Given the description of an element on the screen output the (x, y) to click on. 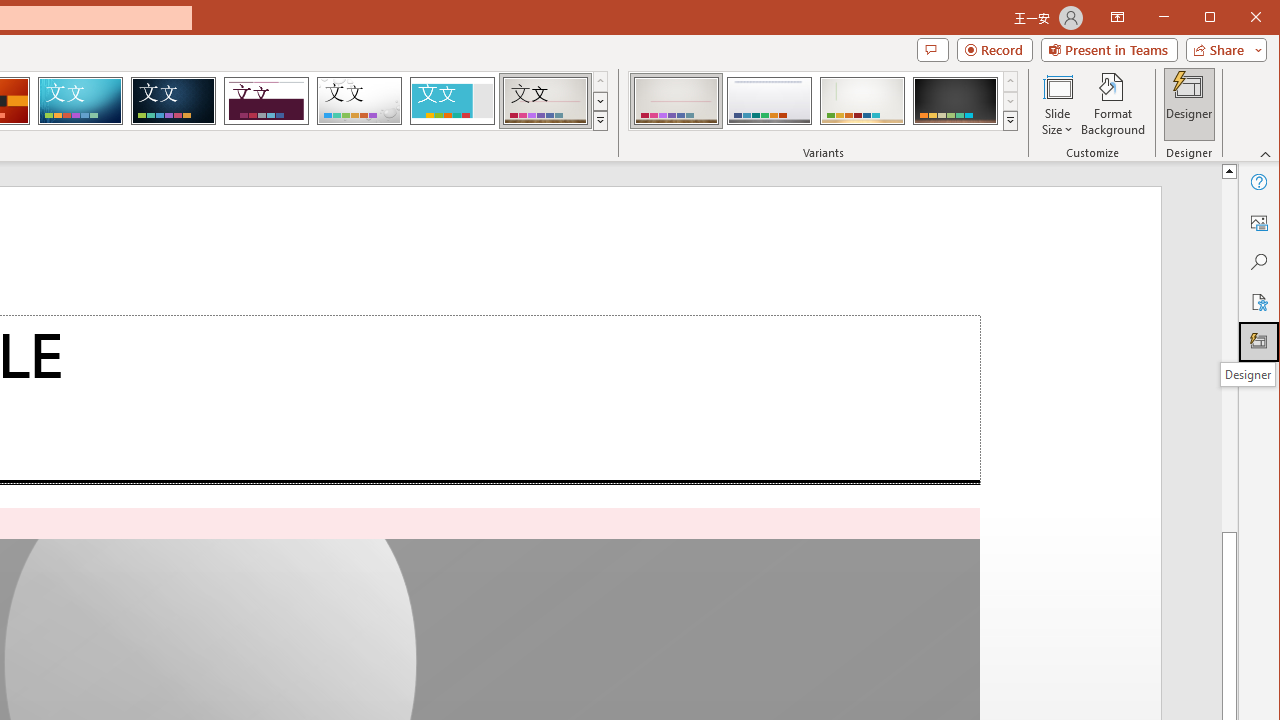
Gallery Variant 2 (769, 100)
Gallery Variant 3 (862, 100)
Format Background (1113, 104)
Frame (452, 100)
Circuit (80, 100)
Variants (1010, 120)
Gallery Variant 1 (676, 100)
